Given the description of an element on the screen output the (x, y) to click on. 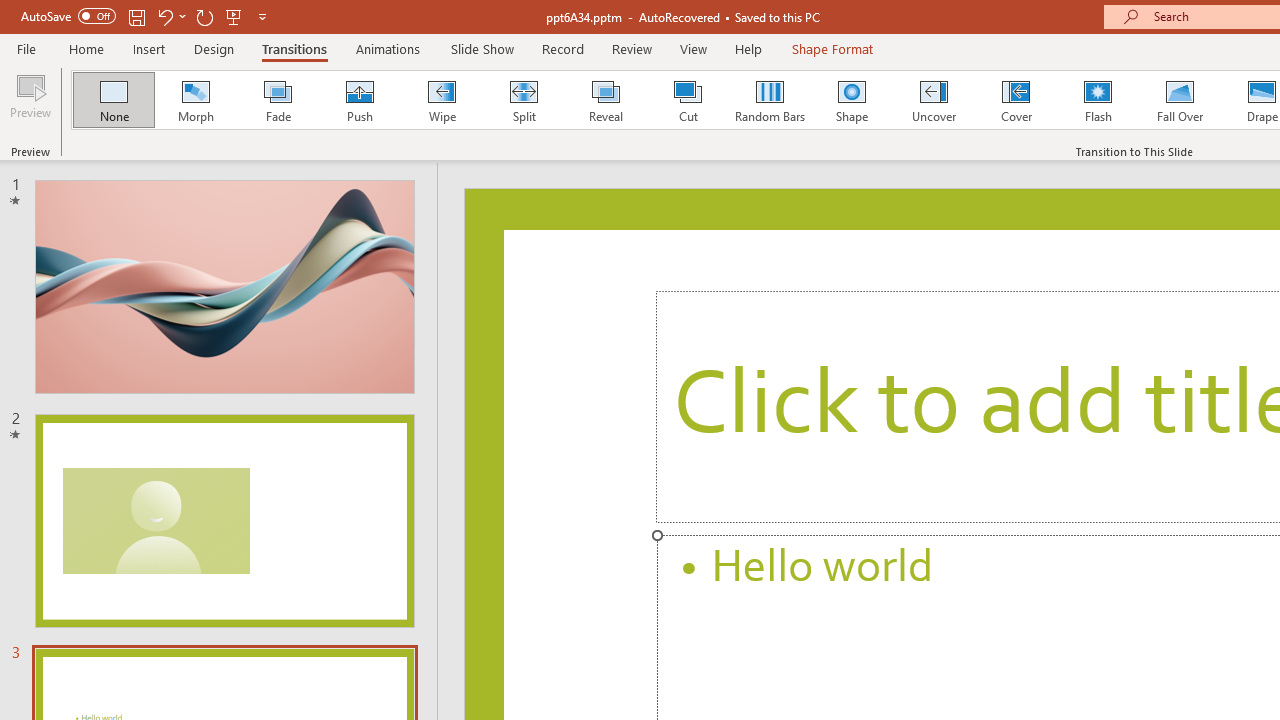
Push (359, 100)
